Given the description of an element on the screen output the (x, y) to click on. 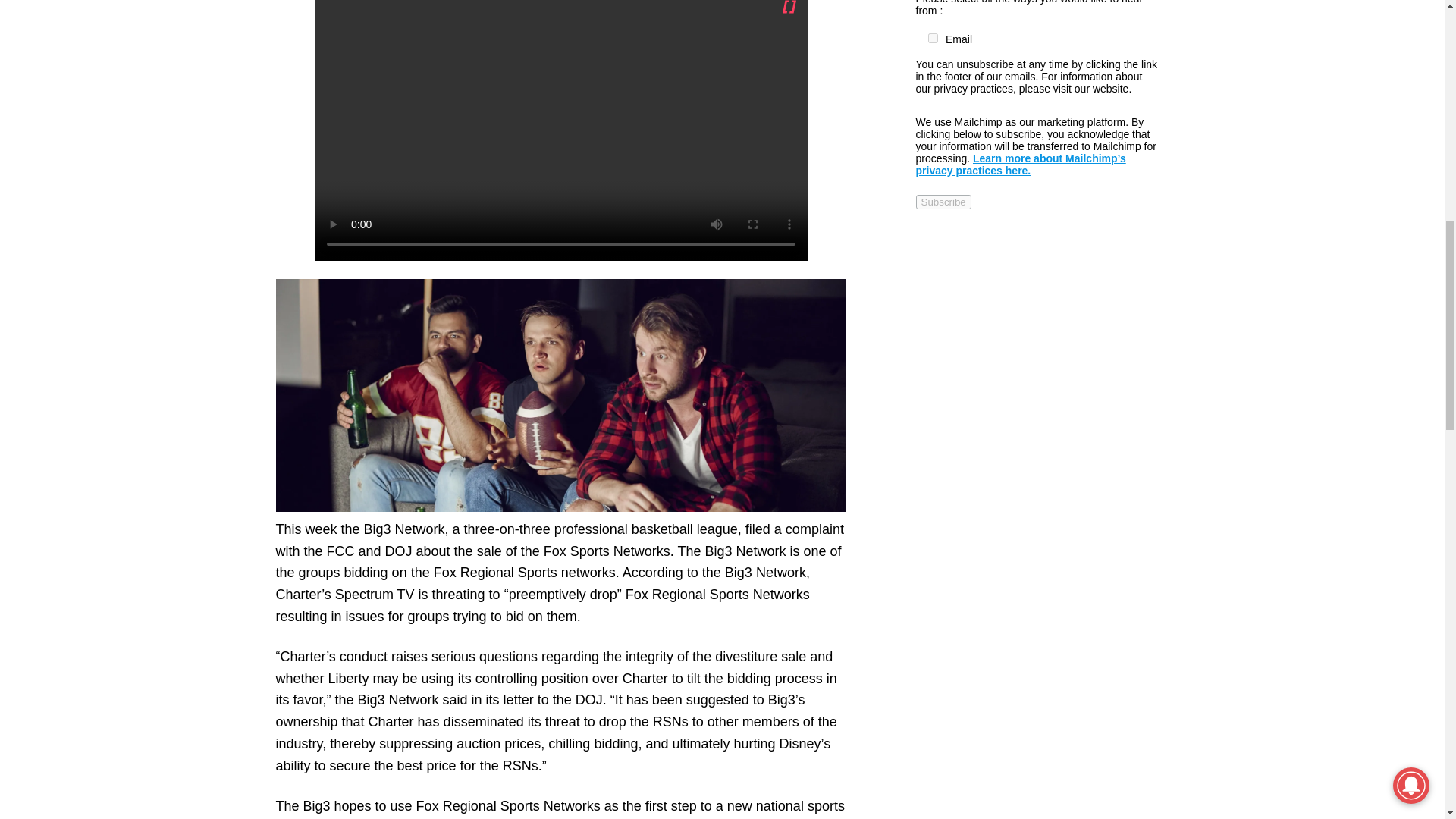
Y (932, 38)
Subscribe (943, 201)
